Given the description of an element on the screen output the (x, y) to click on. 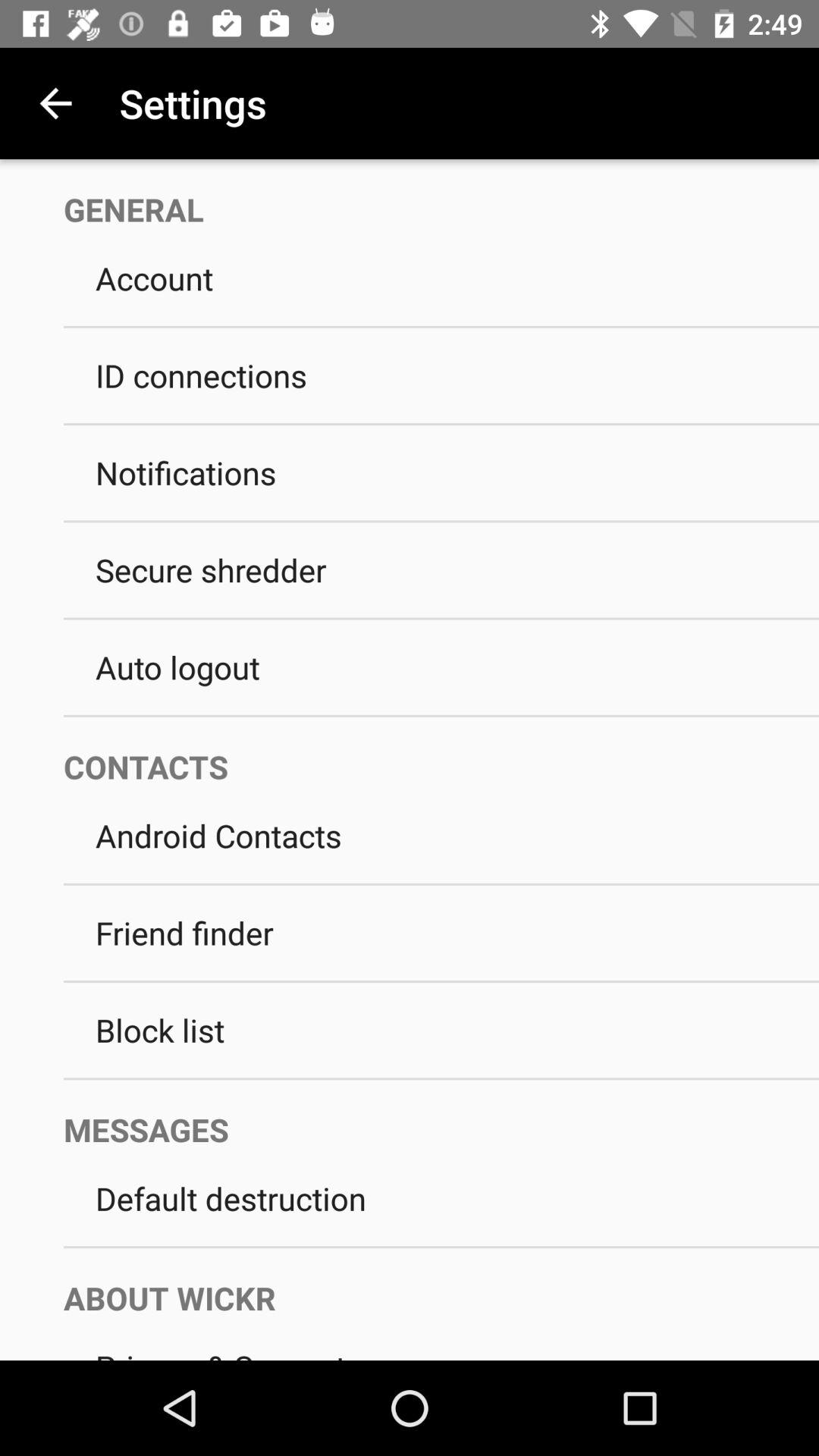
press the icon above notifications icon (441, 424)
